Given the description of an element on the screen output the (x, y) to click on. 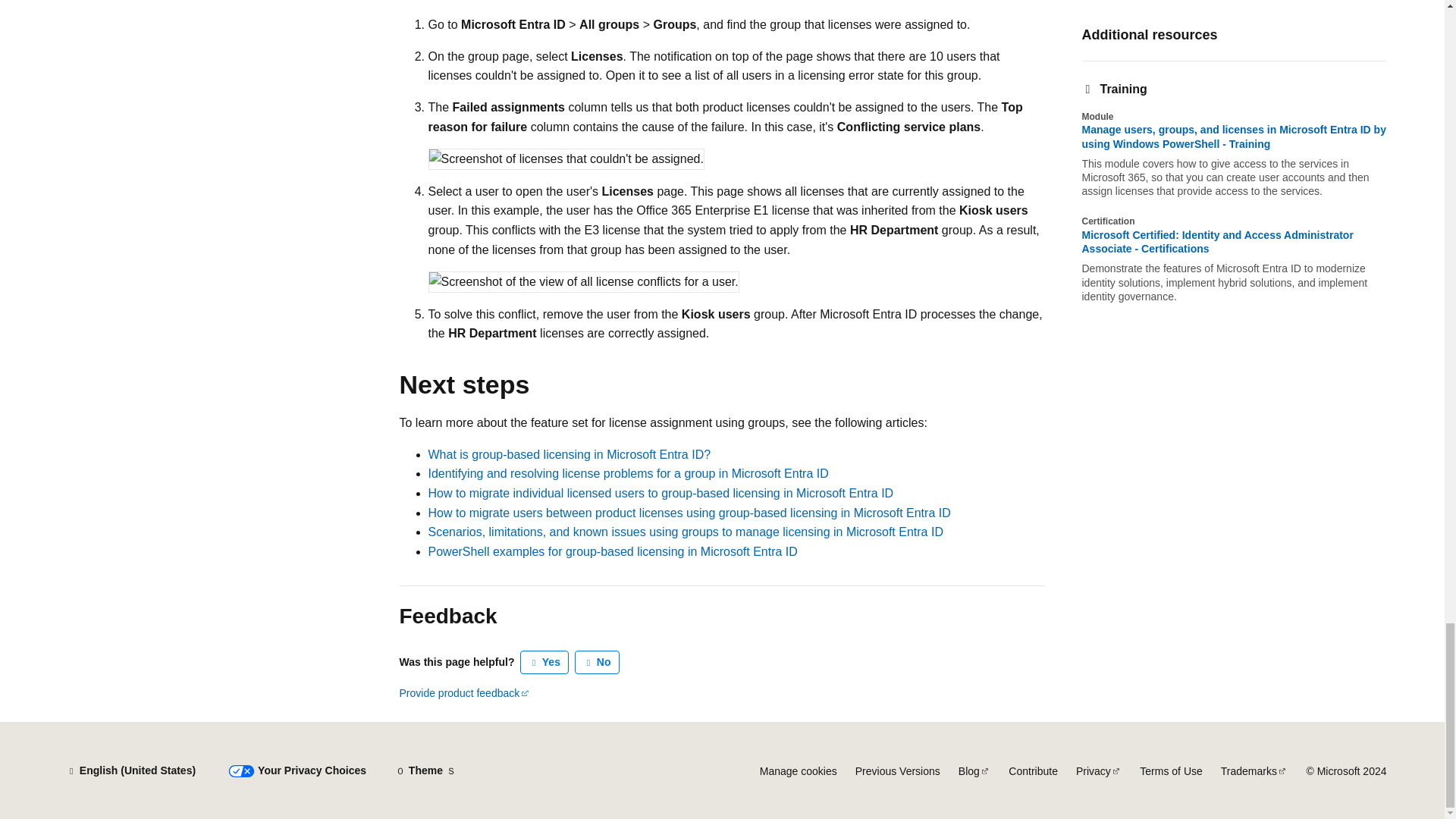
Theme (425, 770)
This article is helpful (544, 662)
What is group-based licensing in Microsoft Entra ID? (569, 454)
This article is not helpful (597, 662)
